Given the description of an element on the screen output the (x, y) to click on. 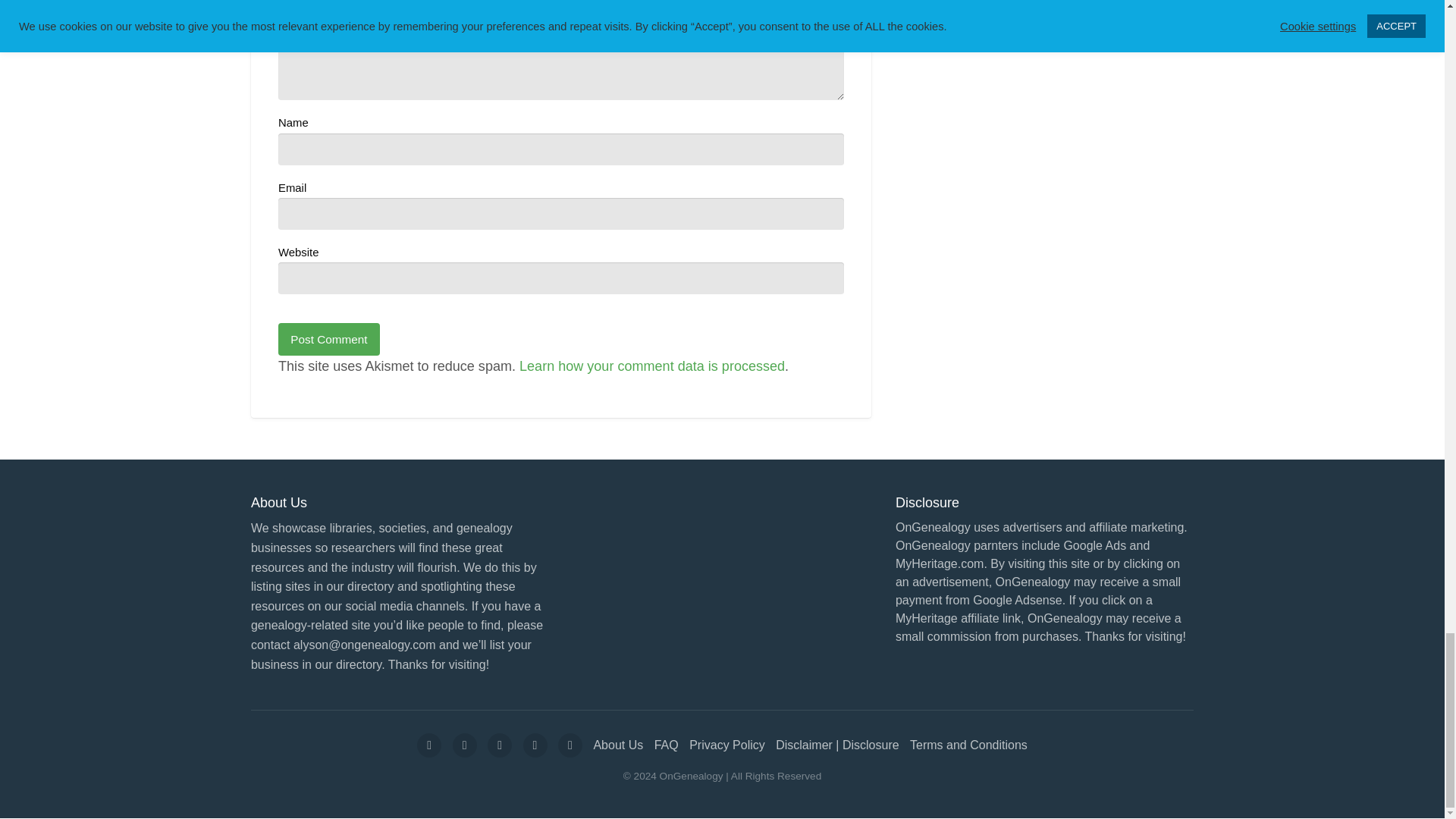
Post Comment (329, 338)
